Given the description of an element on the screen output the (x, y) to click on. 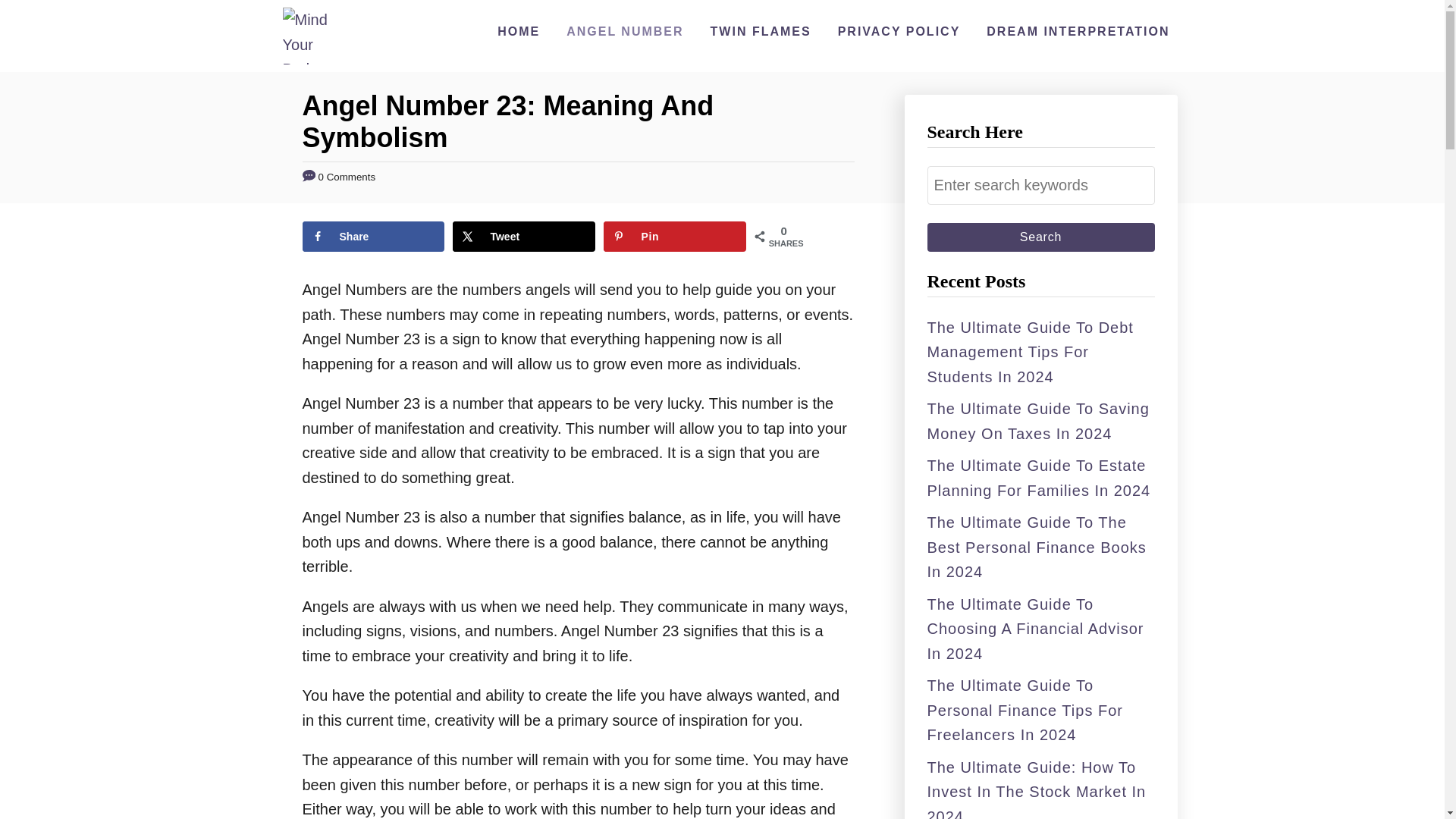
ANGEL NUMBER (624, 31)
Search for: (1040, 185)
PRIVACY POLICY (898, 31)
TWIN FLAMES (760, 31)
Tweet (523, 236)
Search (1040, 236)
